Given the description of an element on the screen output the (x, y) to click on. 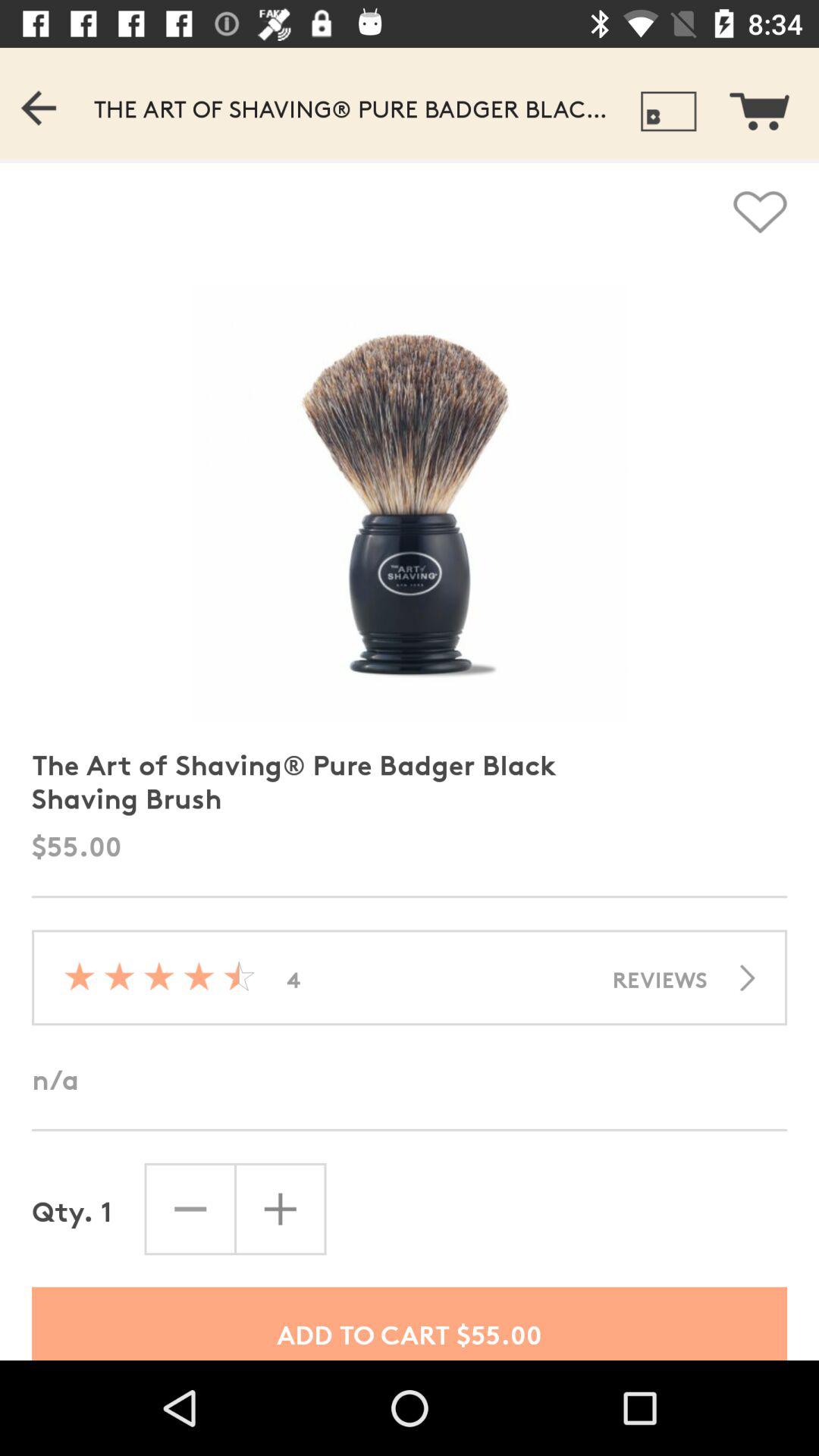
turn on add to cart (409, 1323)
